Given the description of an element on the screen output the (x, y) to click on. 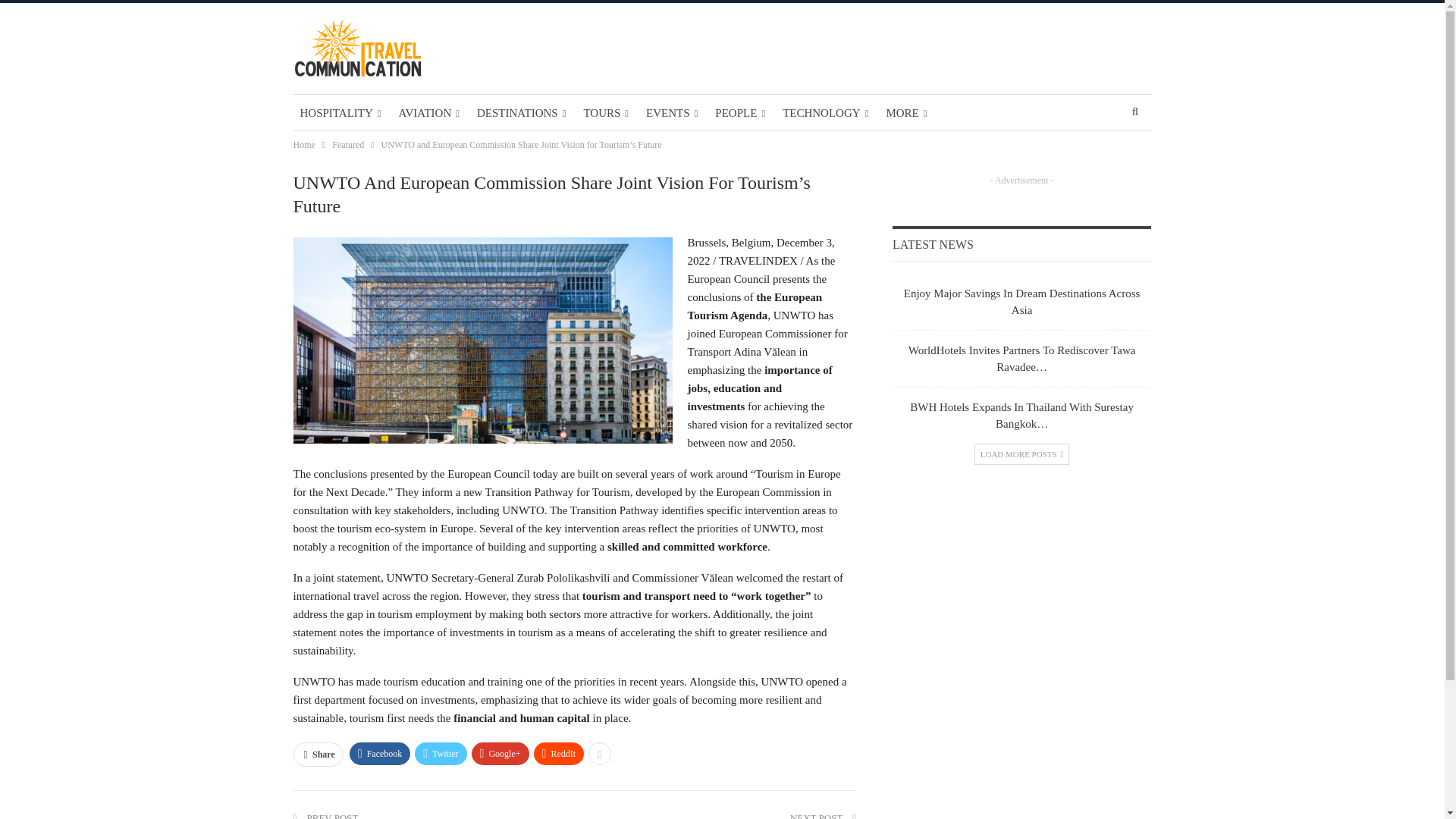
Load More Posts (1022, 454)
AVIATION (428, 113)
TOURS (605, 113)
EVENTS (671, 113)
DESTINATIONS (521, 113)
HOSPITALITY (339, 113)
